Given the description of an element on the screen output the (x, y) to click on. 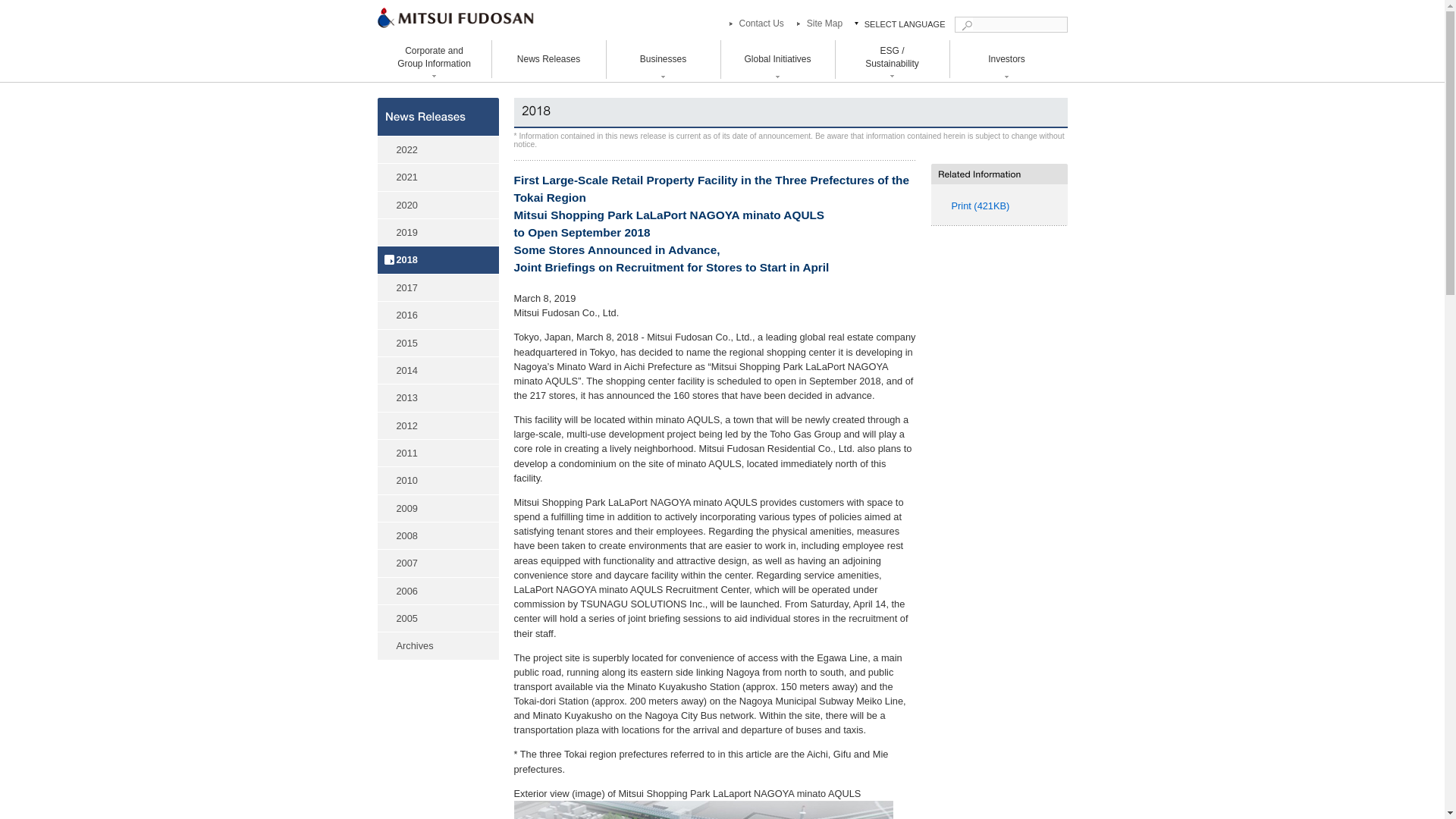
Site Map (818, 23)
News Releases (548, 59)
Contact Us (754, 23)
